Given the description of an element on the screen output the (x, y) to click on. 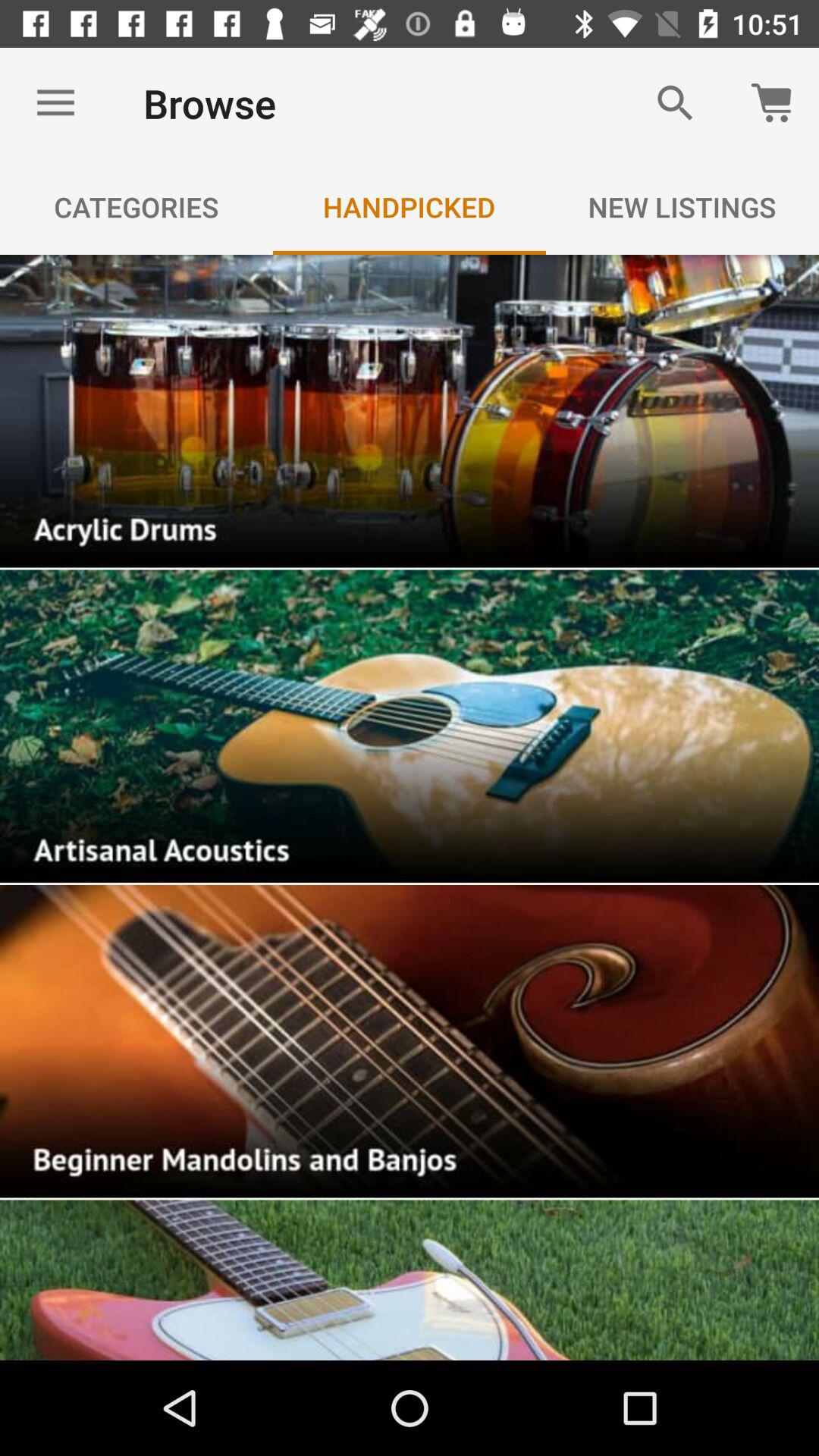
press the icon above the categories (55, 103)
